Given the description of an element on the screen output the (x, y) to click on. 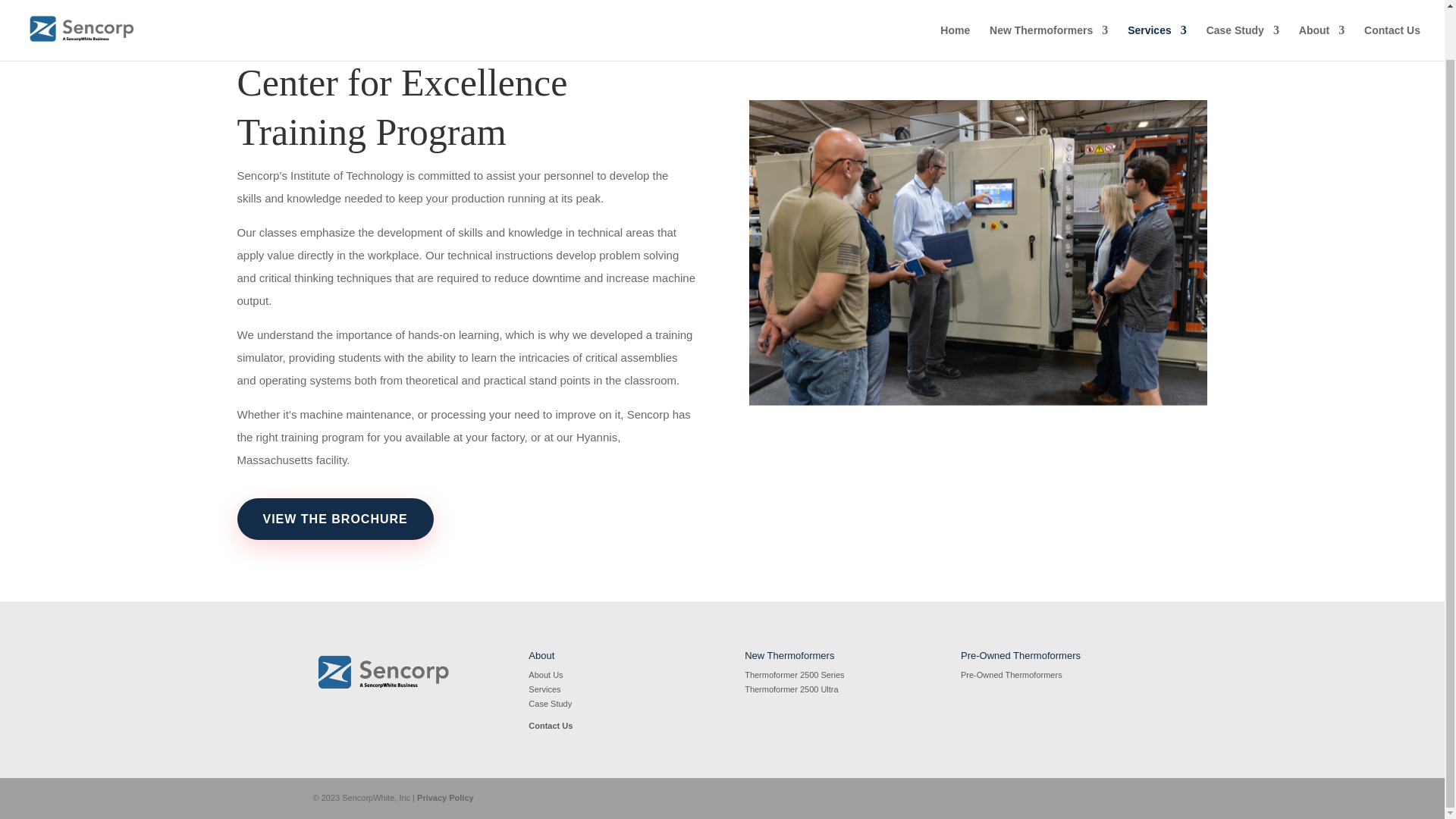
Services (1156, 3)
Services (544, 688)
VIEW THE BROCHURE (333, 518)
Pre-Owned Thermoformers (1011, 674)
About (1320, 3)
Case Study (550, 703)
Contact Us (1392, 3)
New Thermoformers (1049, 3)
Case Study (1243, 3)
Thermoformer 2500 Series (794, 674)
